Given the description of an element on the screen output the (x, y) to click on. 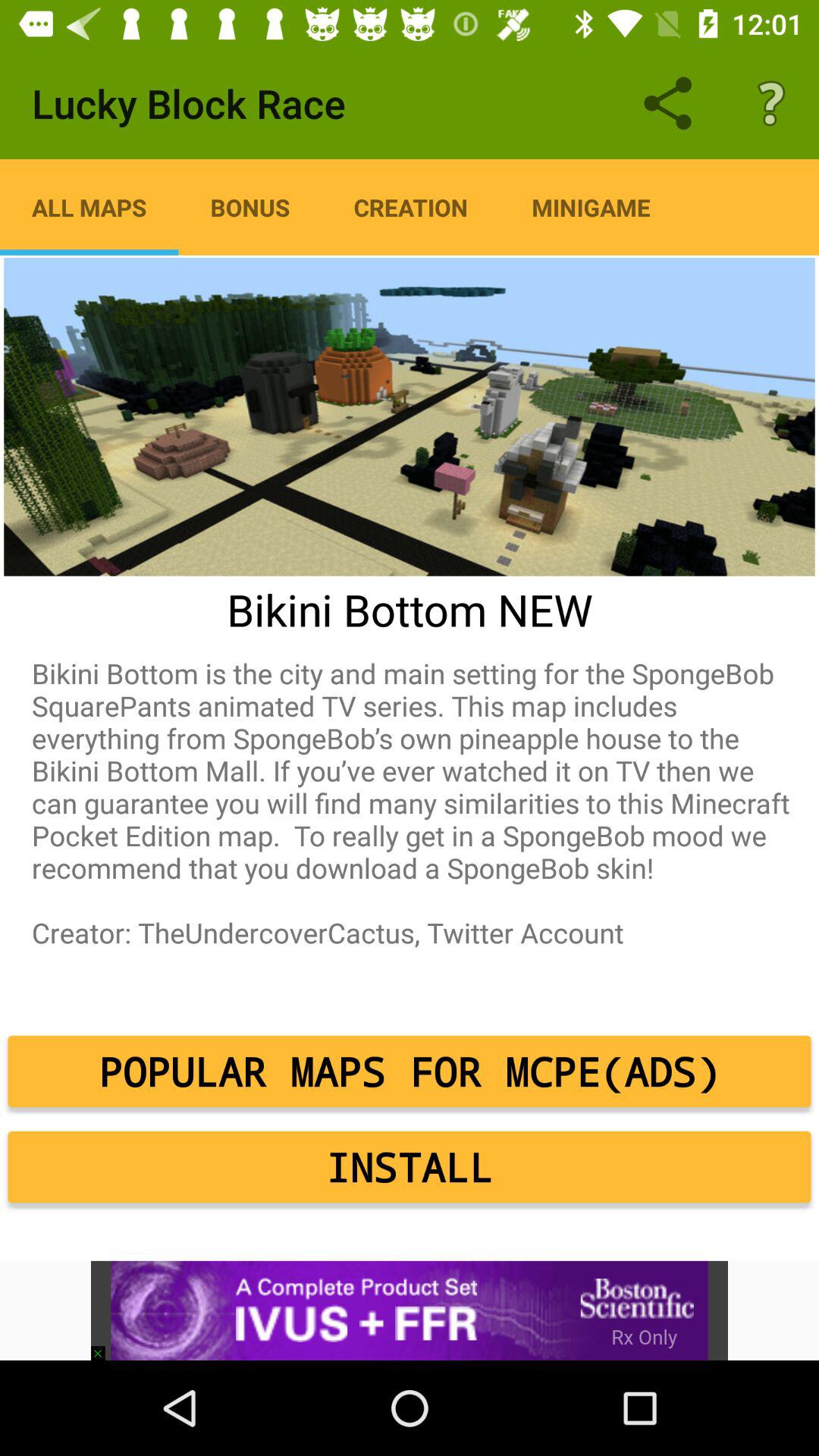
open item next to the minigame icon (410, 207)
